Given the description of an element on the screen output the (x, y) to click on. 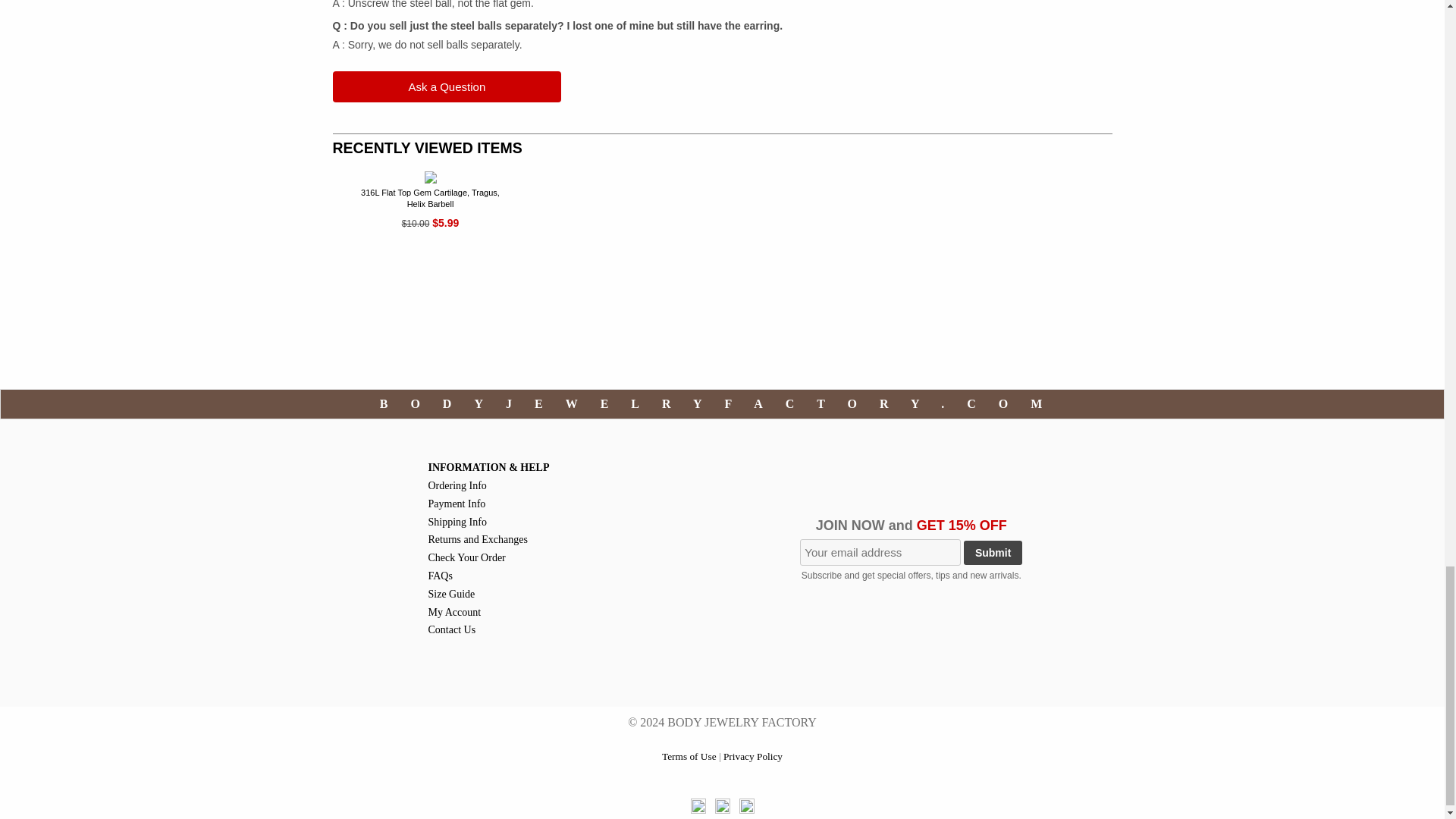
facebook (697, 806)
twitter (746, 806)
pinterest (721, 806)
